Given the description of an element on the screen output the (x, y) to click on. 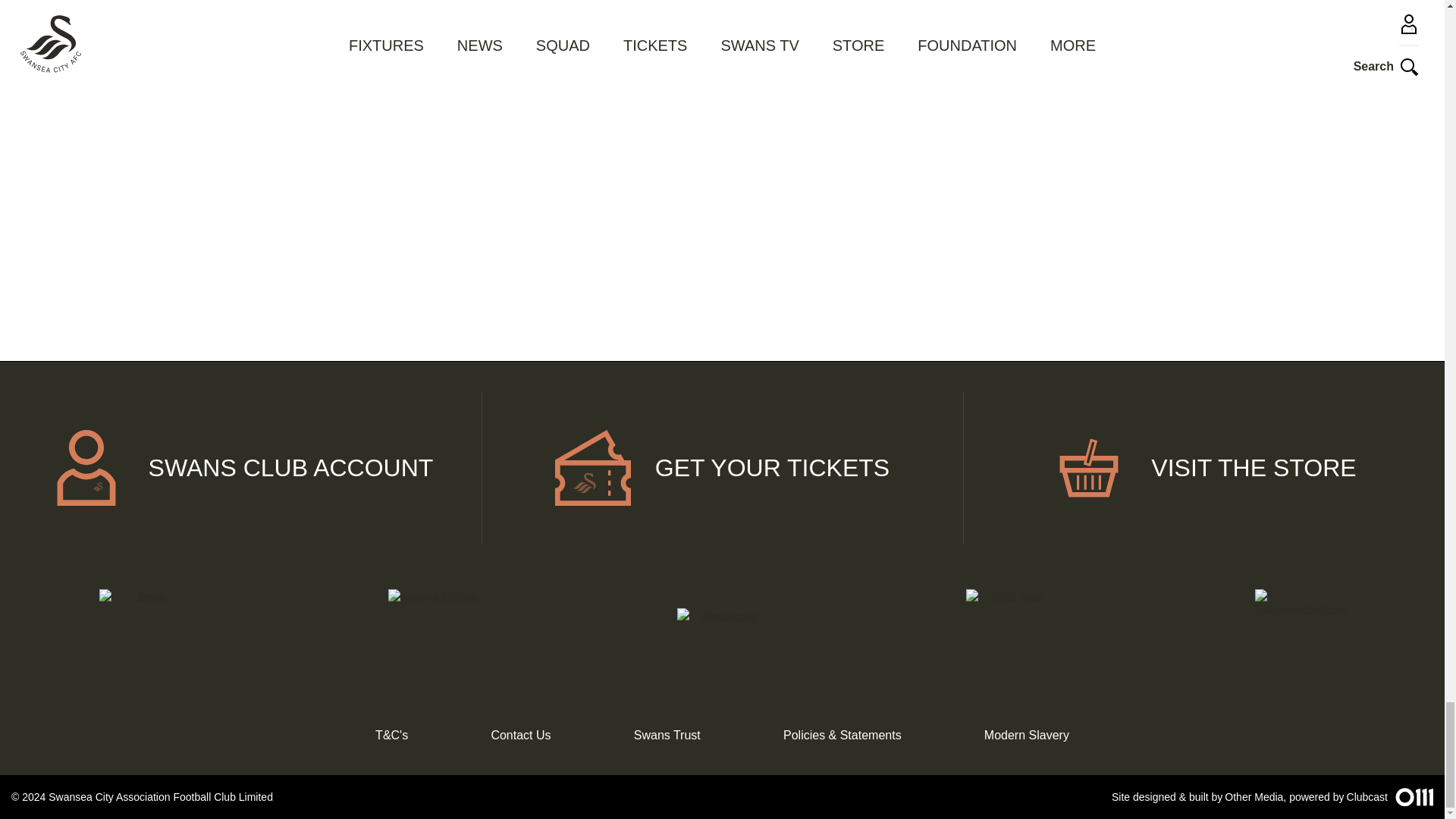
Swansea sponsor (722, 634)
Swansea sponsor (432, 634)
Sign up or log into Swans Club Account (240, 467)
Swansea sponsor (144, 634)
Swansea sponsor (1299, 634)
